Given the description of an element on the screen output the (x, y) to click on. 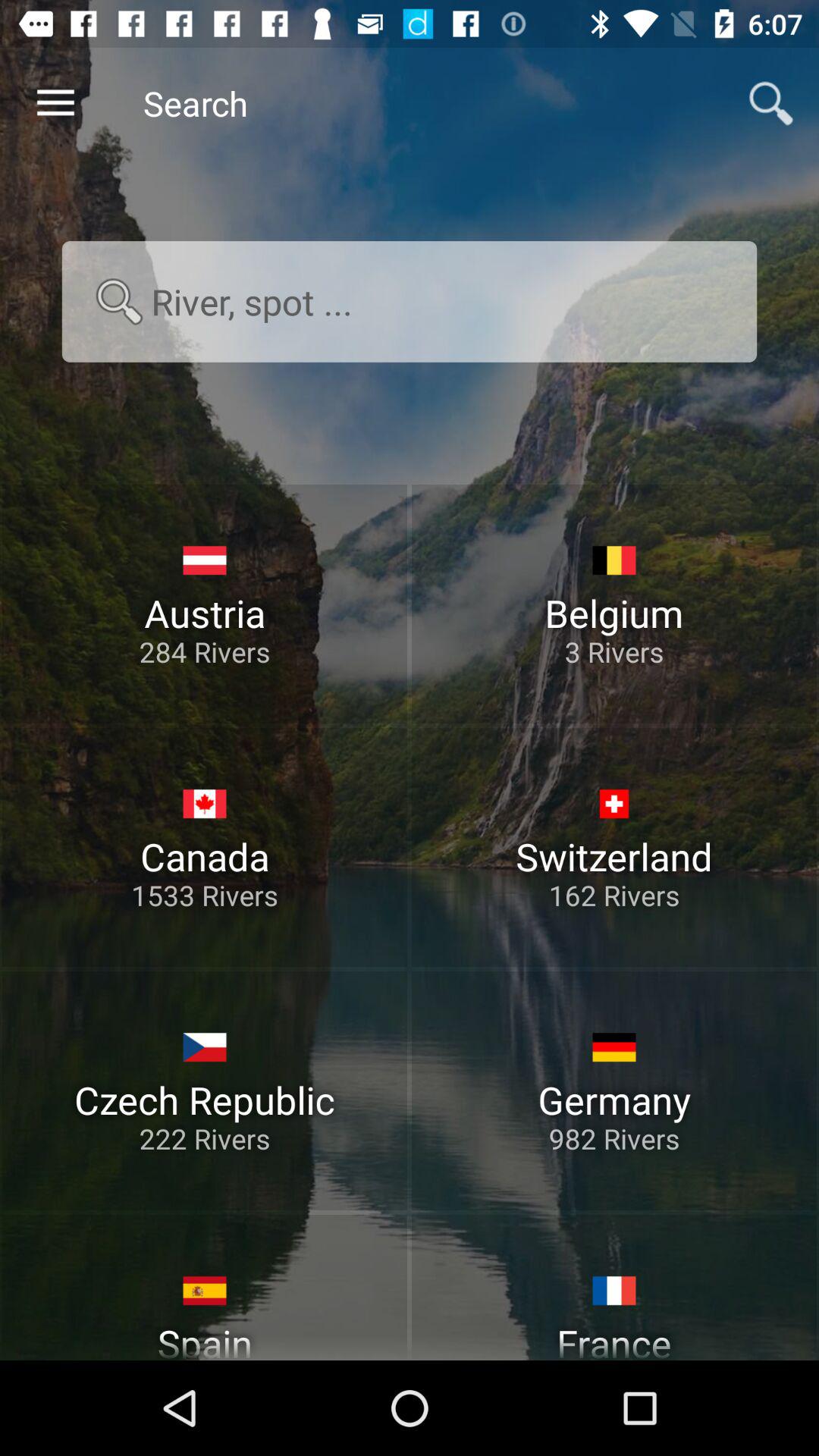
select the search (409, 301)
